Given the description of an element on the screen output the (x, y) to click on. 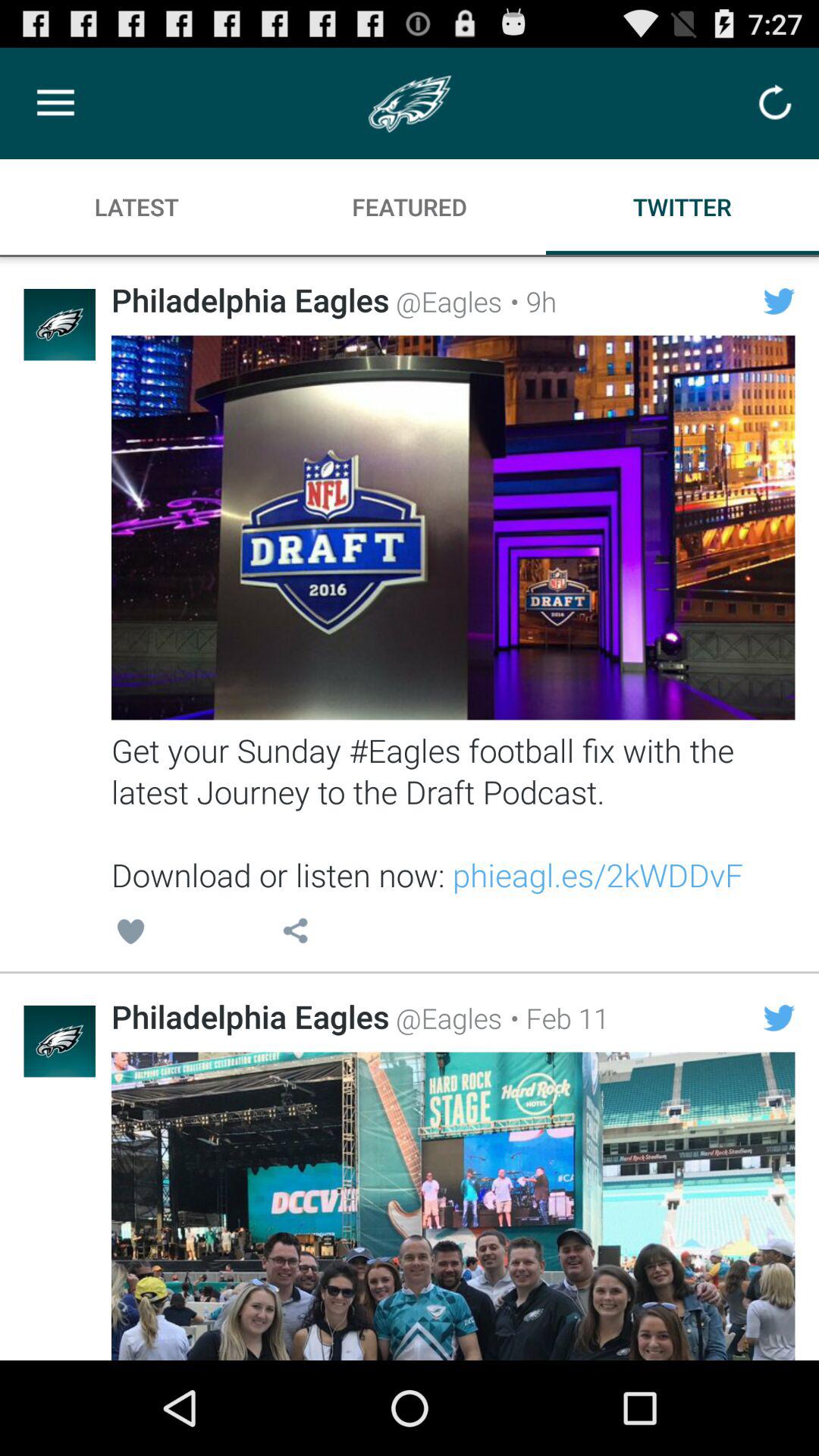
click item next to @eagles item (529, 301)
